Given the description of an element on the screen output the (x, y) to click on. 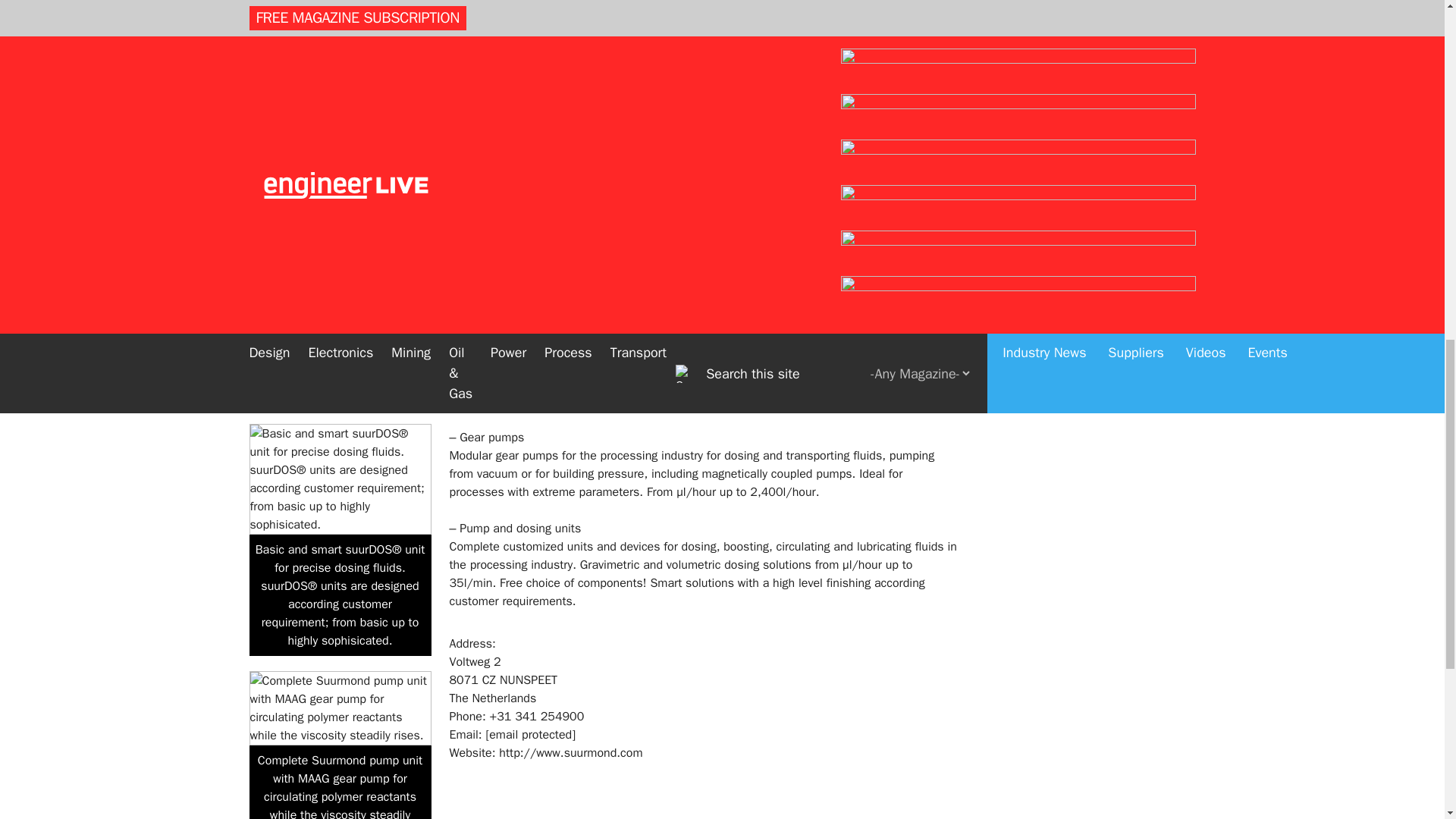
nuclear (1041, 50)
mining (1041, 31)
highly qualified suppliers (852, 109)
Submit (1109, 181)
power (1041, 87)
brands (906, 364)
rail (1041, 123)
process (1041, 105)
industries (474, 91)
electronics (1041, 13)
oilandgas (1041, 68)
renewables (1041, 143)
